Given the description of an element on the screen output the (x, y) to click on. 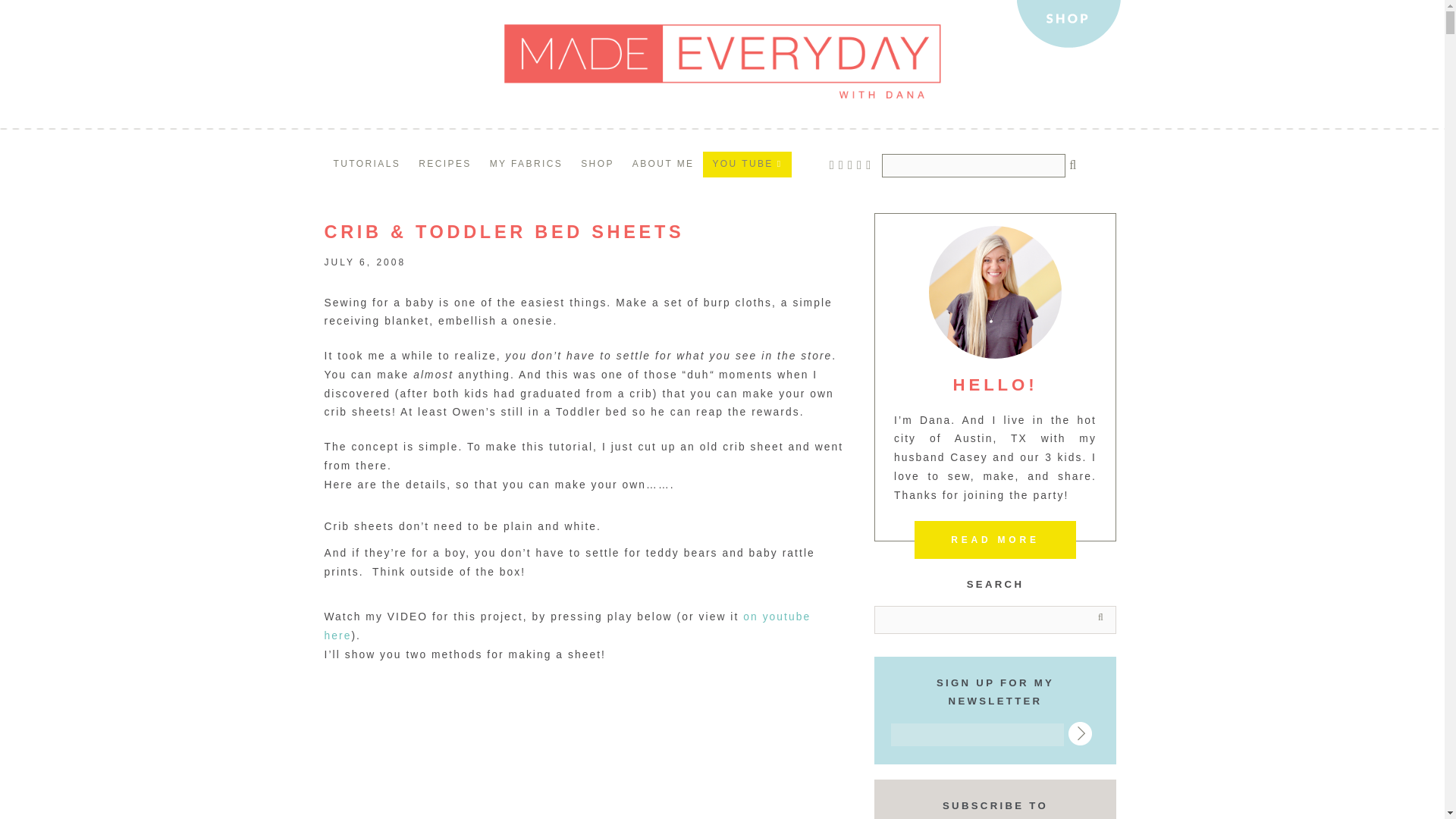
RECIPES (444, 164)
MY FABRICS (526, 164)
on youtube here (567, 625)
ABOUT ME (663, 164)
SHOP (597, 164)
YOU TUBE (746, 164)
TUTORIALS (367, 164)
